Given the description of an element on the screen output the (x, y) to click on. 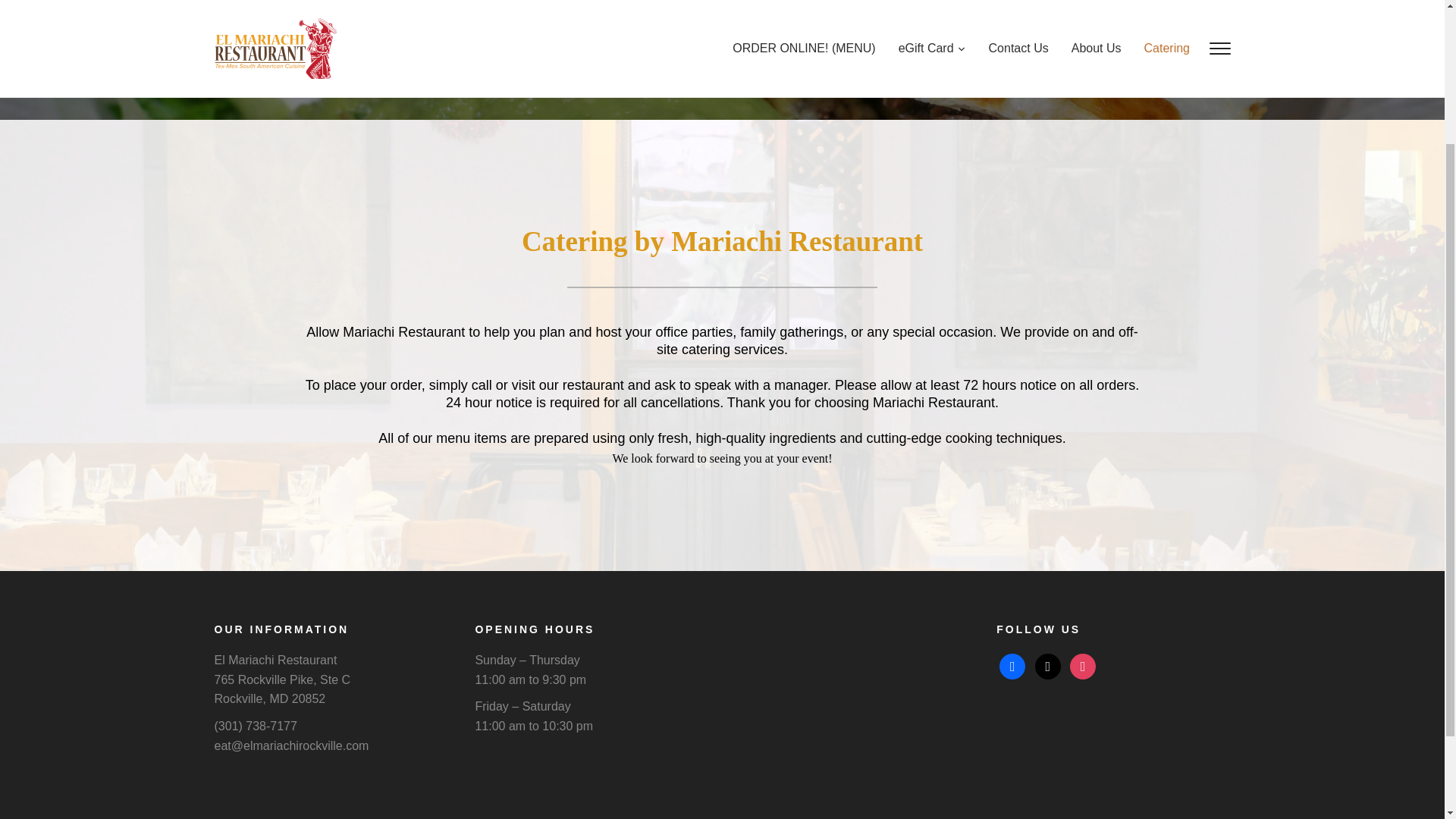
facebook (1011, 665)
X (1048, 665)
Instagram (1083, 665)
Facebook (1011, 665)
instagram (1083, 665)
x (1048, 665)
